Given the description of an element on the screen output the (x, y) to click on. 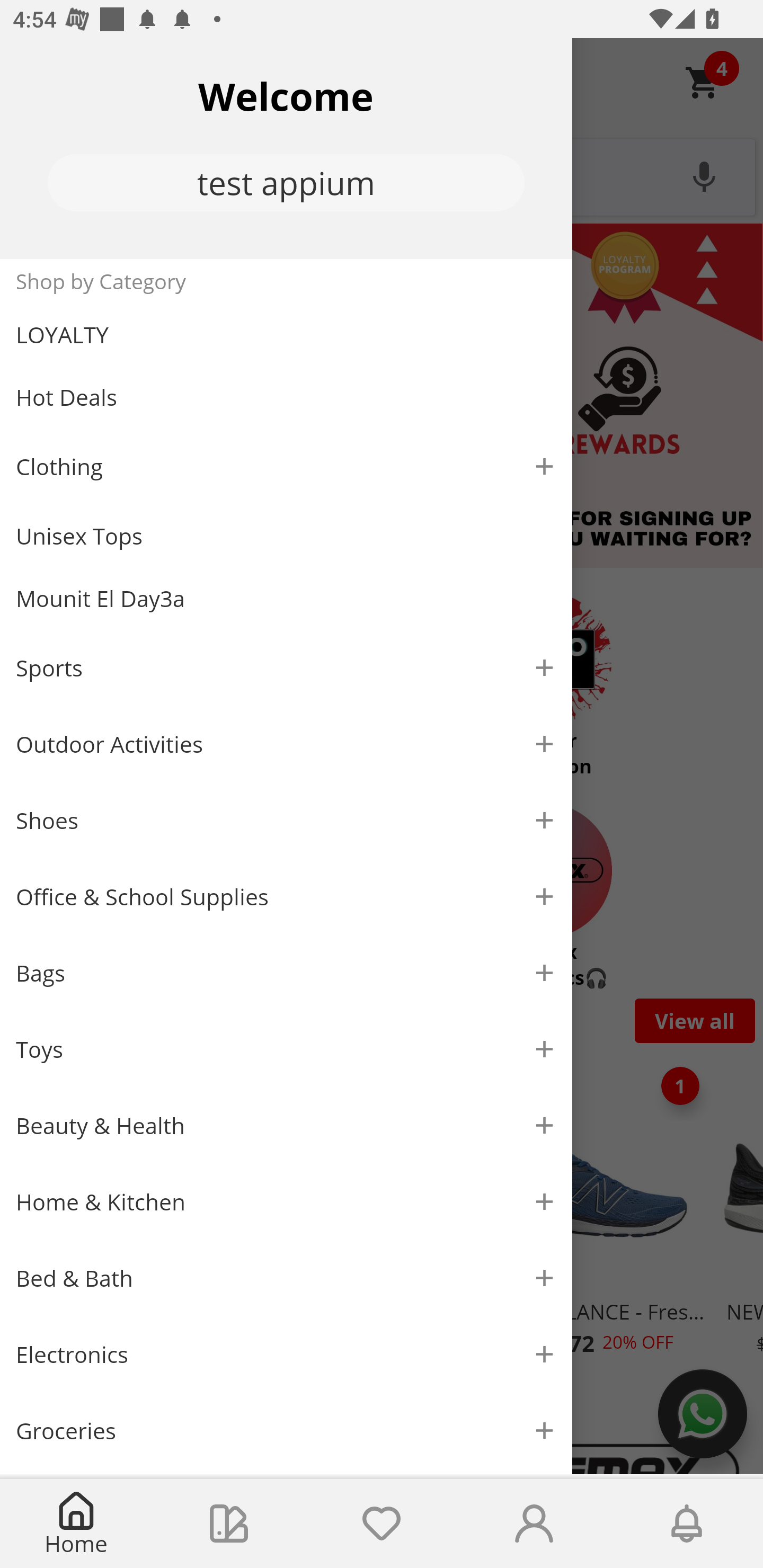
Welcome test appium (286, 147)
What are you looking for? (381, 175)
LOYALTY (286, 334)
Hot Deals (286, 396)
Clothing (286, 466)
Unisex Tops (286, 535)
Mounit El Day3a (286, 598)
Sports (286, 667)
Outdoor Activities (286, 743)
Shoes (286, 820)
Office & School Supplies (286, 896)
Bags (286, 972)
Toys (286, 1049)
Beauty & Health (286, 1125)
Home & Kitchen (286, 1201)
Bed & Bath (286, 1278)
Electronics (286, 1354)
Groceries (286, 1430)
Collections (228, 1523)
Wishlist (381, 1523)
Account (533, 1523)
Notifications (686, 1523)
